Given the description of an element on the screen output the (x, y) to click on. 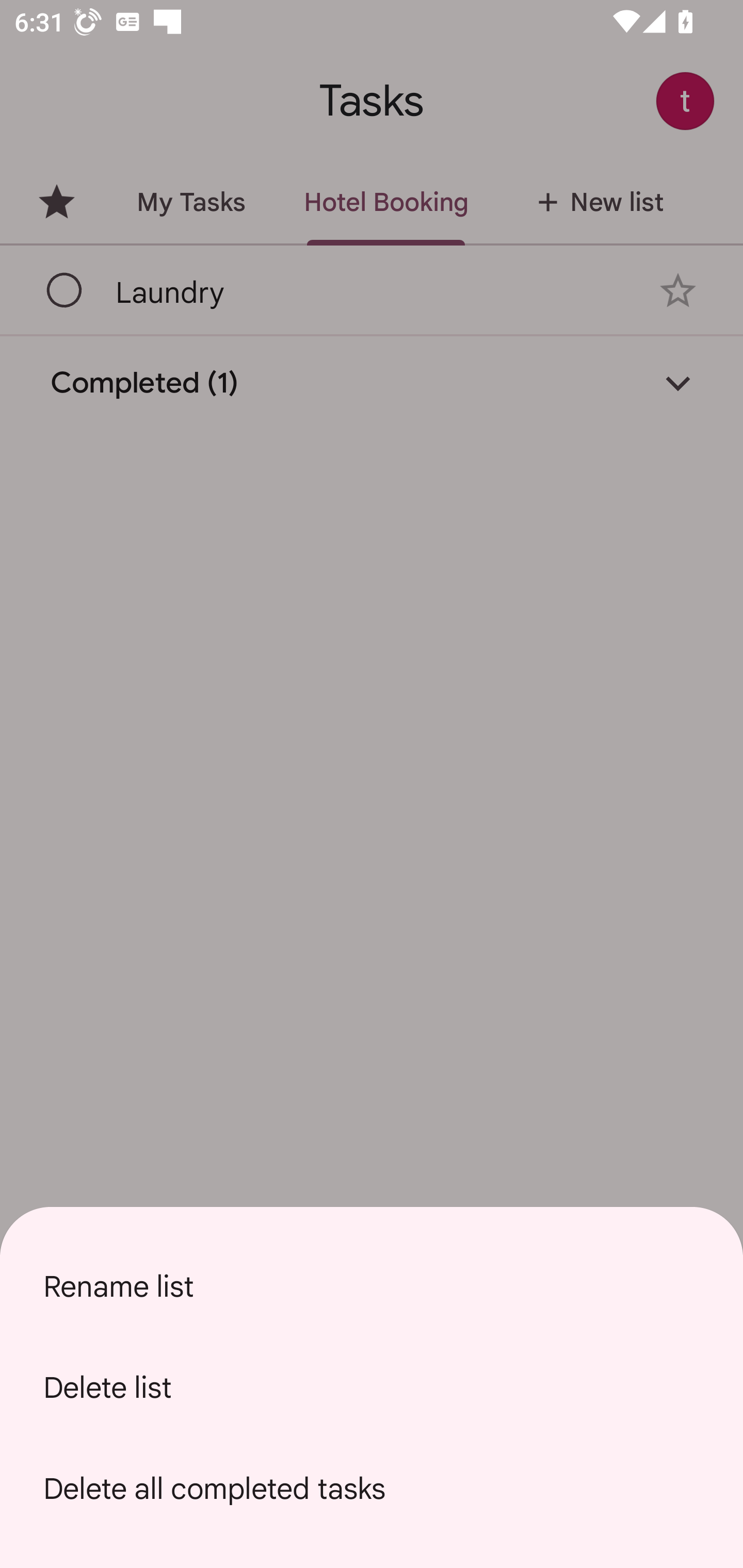
Rename list (371, 1286)
Delete list (371, 1387)
Delete all completed tasks (371, 1488)
